Given the description of an element on the screen output the (x, y) to click on. 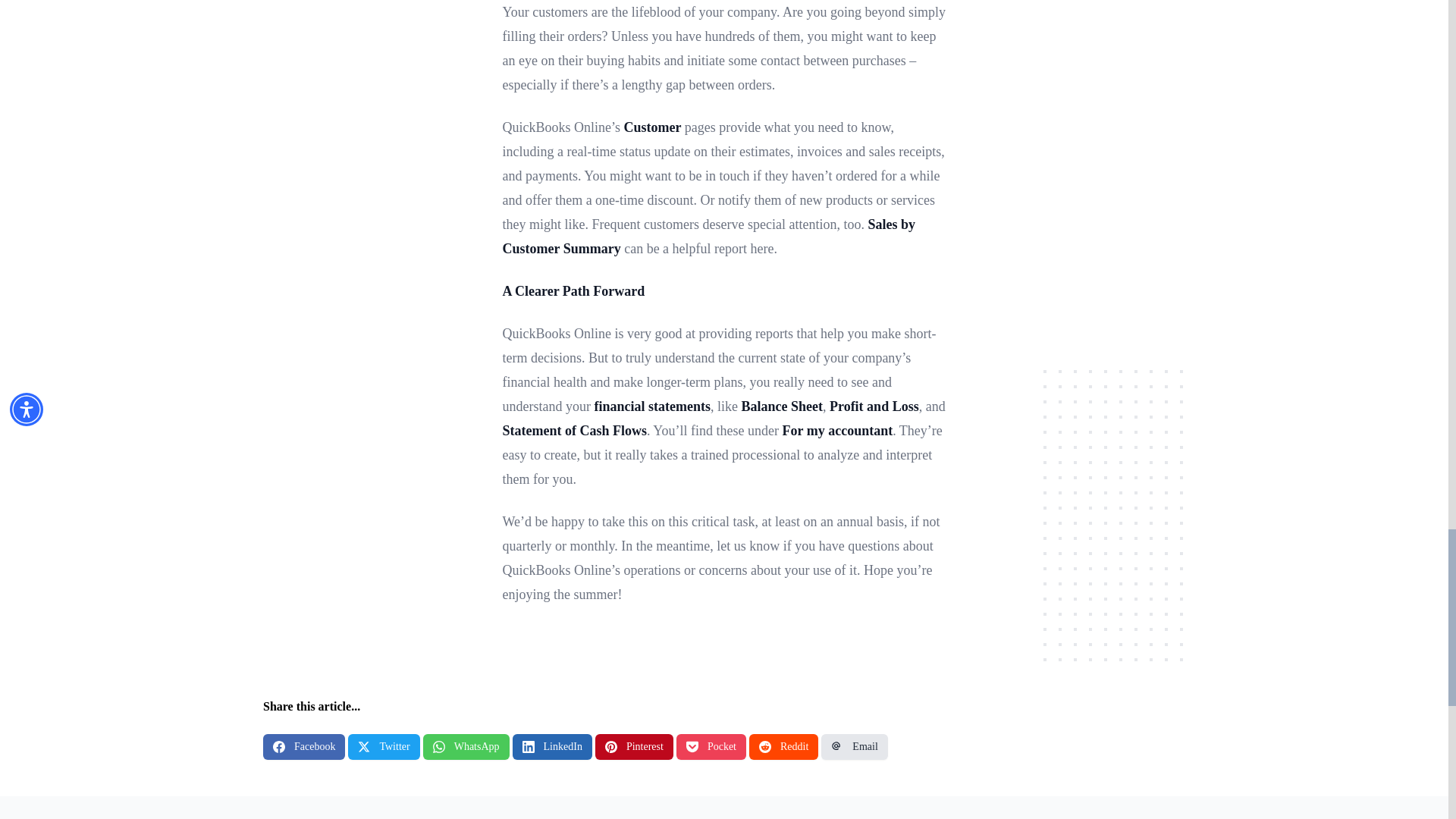
WhatsApp (466, 746)
Facebook (304, 746)
Twitter (383, 746)
